Given the description of an element on the screen output the (x, y) to click on. 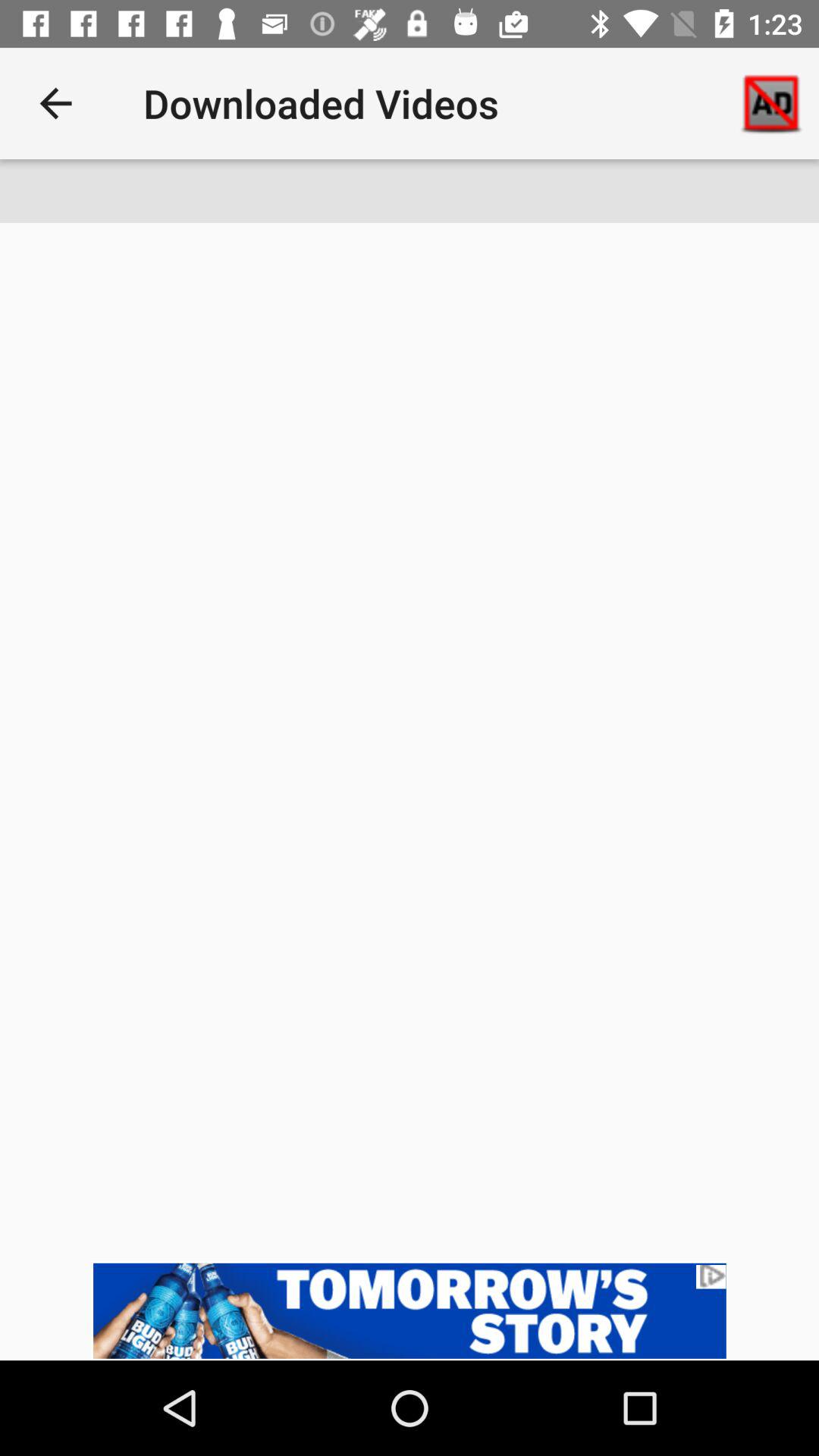
select advertisement (409, 1310)
